Given the description of an element on the screen output the (x, y) to click on. 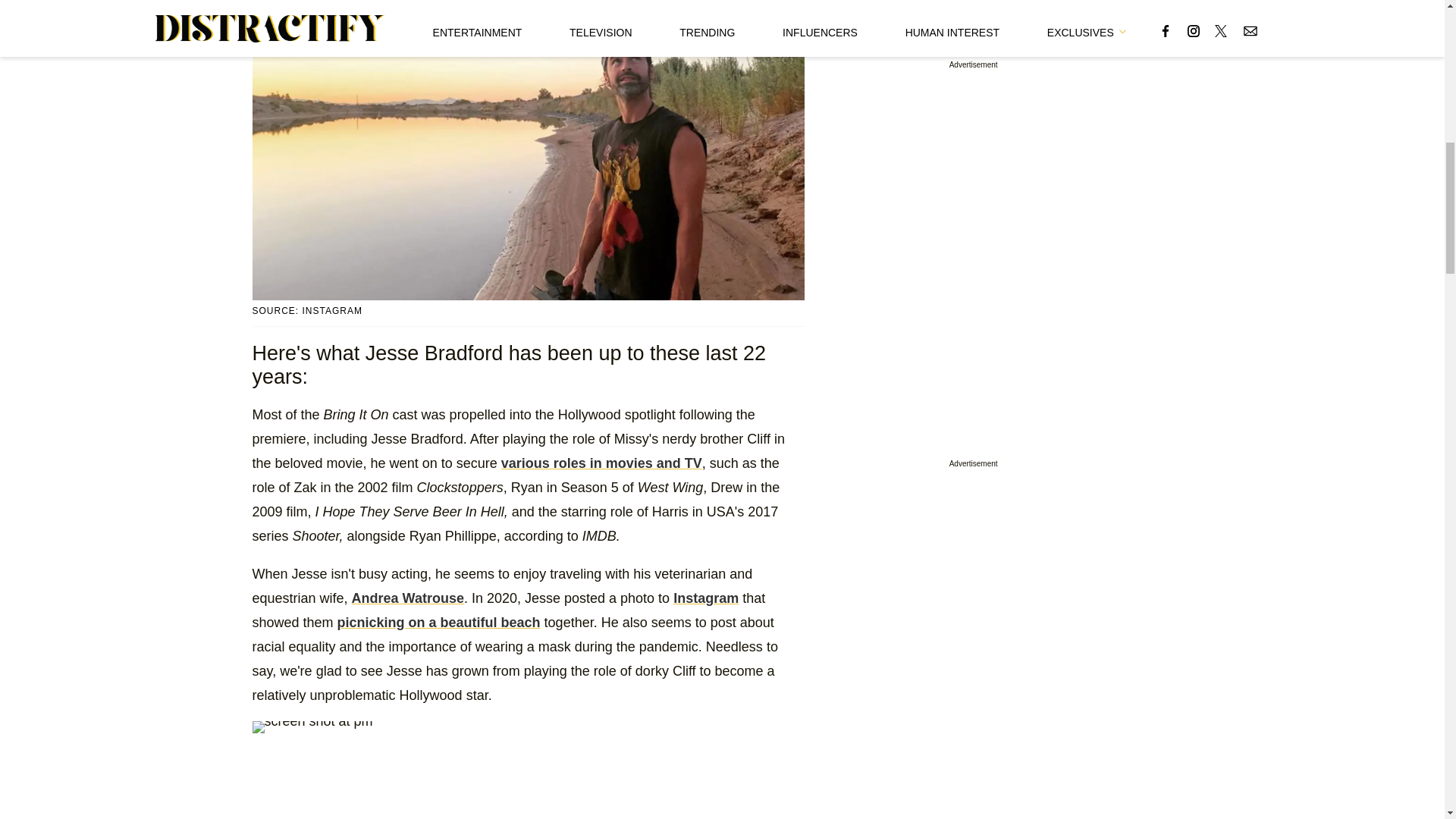
SOURCE: INSTAGRAM (527, 310)
Instagram (705, 598)
picnicking on a beautiful beach (438, 622)
Andrea Watrouse (408, 598)
various roles in movies and TV (600, 462)
